Given the description of an element on the screen output the (x, y) to click on. 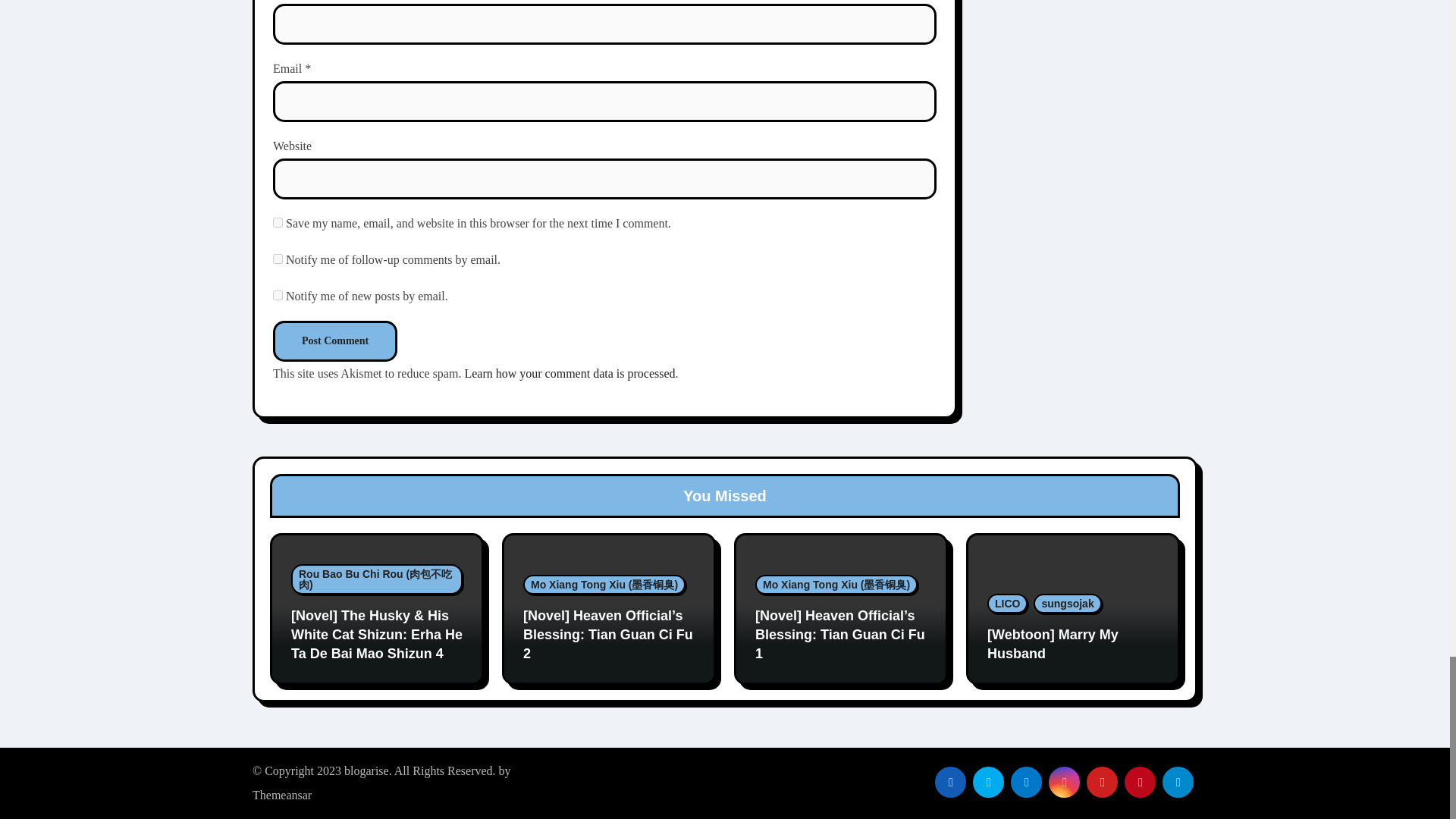
Post Comment (335, 341)
yes (277, 222)
subscribe (277, 295)
subscribe (277, 258)
